Given the description of an element on the screen output the (x, y) to click on. 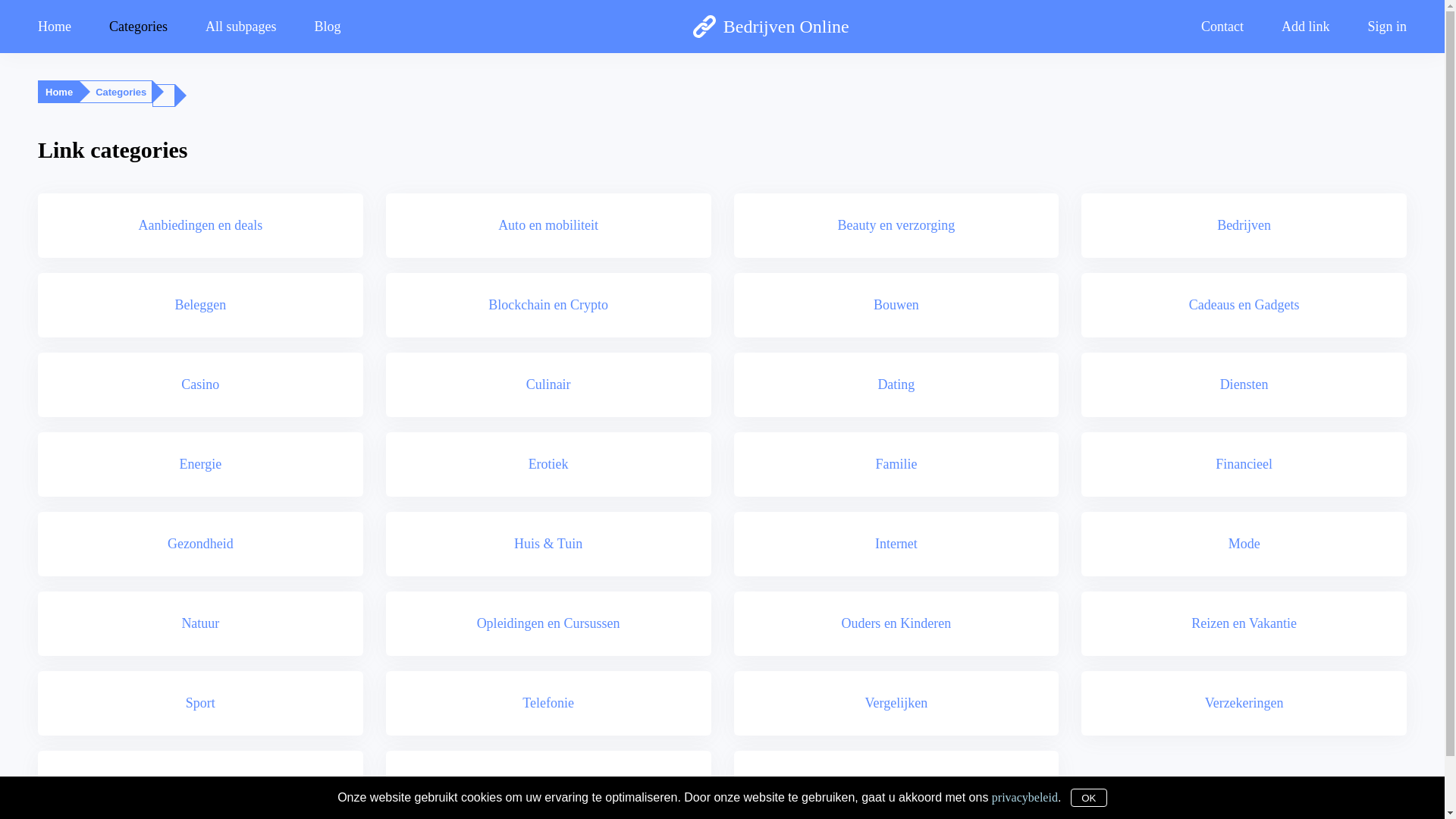
Verzekeringen Element type: text (1243, 702)
Energie Element type: text (200, 464)
Sign in Element type: text (1377, 25)
Wonen Element type: text (896, 782)
Beauty en verzorging Element type: text (896, 224)
Home Element type: text (63, 25)
Bouwen Element type: text (896, 305)
Familie Element type: text (896, 464)
Contact Element type: text (1222, 25)
privacybeleid Element type: text (1024, 796)
Dating Element type: text (896, 383)
bedrijven-online.be Element type: text (649, 803)
Blog Element type: text (326, 25)
Vergelijken Element type: text (896, 702)
Beleggen Element type: text (200, 305)
Reizen en Vakantie Element type: text (1243, 623)
Webwinkels Element type: text (200, 782)
Categories Element type: text (138, 25)
Contact Element type: text (845, 803)
Categories Element type: text (120, 91)
Blockchain en Crypto Element type: text (548, 305)
Bedrijven Element type: text (1243, 224)
Gezondheid Element type: text (200, 543)
Opleidingen en Cursussen Element type: text (548, 623)
Privacy Policy Element type: text (717, 803)
Werken Element type: text (548, 782)
Culinair Element type: text (548, 383)
Add link Element type: text (1305, 25)
OK Element type: text (1088, 797)
All subpages Element type: text (240, 25)
Home Element type: text (58, 91)
Mode Element type: text (1243, 543)
Ouders en Kinderen Element type: text (896, 623)
Natuur Element type: text (200, 623)
Cadeaus en Gadgets Element type: text (1243, 305)
Terms & Conditions Element type: text (788, 803)
Diensten Element type: text (1243, 383)
Huis & Tuin Element type: text (548, 543)
Casino Element type: text (200, 383)
Bedrijven Online Element type: text (770, 26)
Telefonie Element type: text (548, 702)
Internet Element type: text (896, 543)
Sport Element type: text (200, 702)
Auto en mobiliteit Element type: text (548, 224)
Aanbiedingen en deals Element type: text (200, 224)
Financieel Element type: text (1243, 464)
Erotiek Element type: text (548, 464)
